Given the description of an element on the screen output the (x, y) to click on. 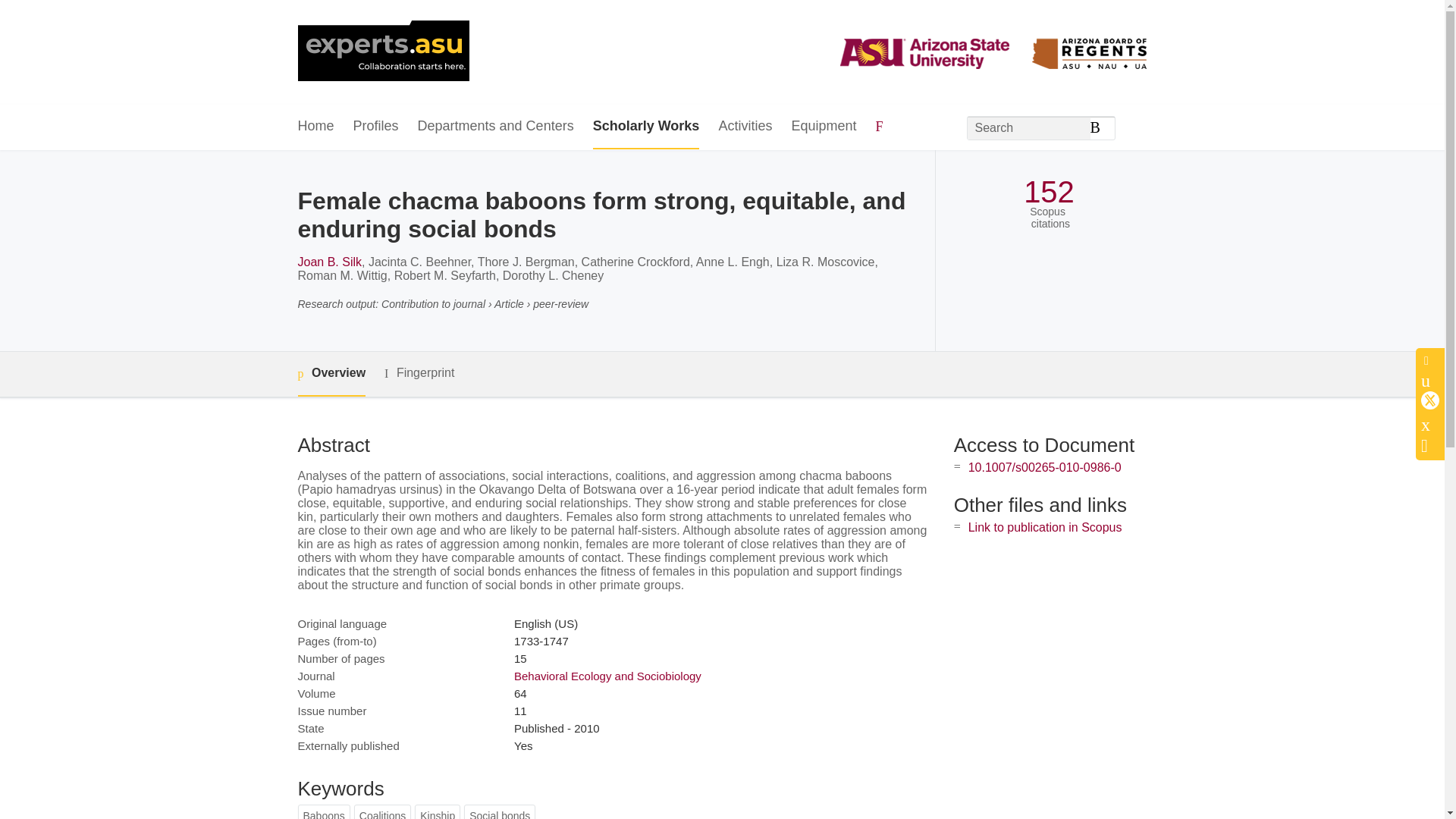
Departments and Centers (495, 126)
Equipment (823, 126)
Behavioral Ecology and Sociobiology (607, 675)
152 (1048, 192)
Joan B. Silk (329, 261)
Arizona State University Home (382, 52)
Link to publication in Scopus (1045, 526)
Profiles (375, 126)
Scholarly Works (646, 126)
